Given the description of an element on the screen output the (x, y) to click on. 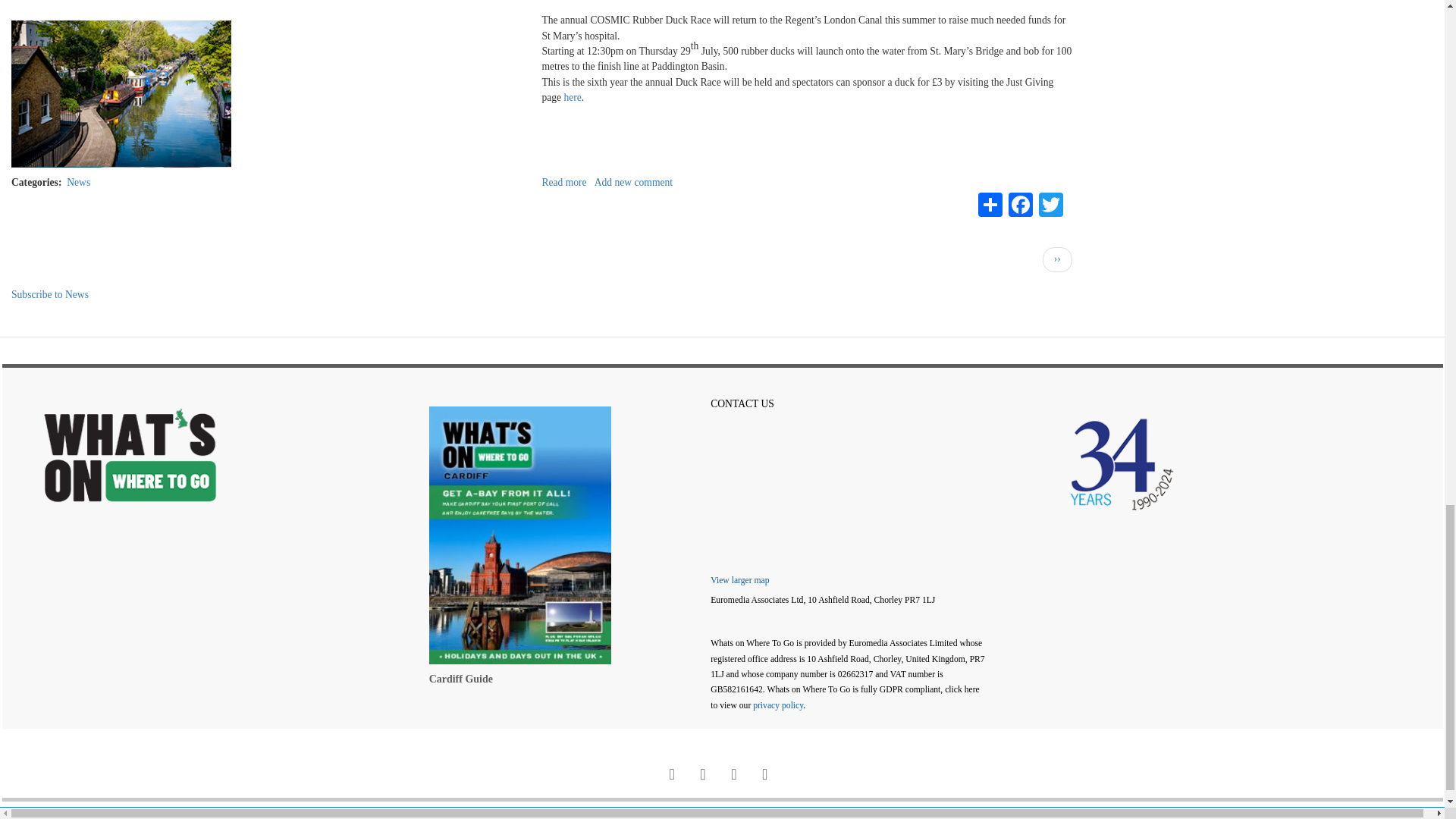
500 rubber ducks race on London Canal (563, 182)
London Canal (124, 93)
Go to next page (1056, 259)
Share your thoughts and opinions. (633, 182)
